Given the description of an element on the screen output the (x, y) to click on. 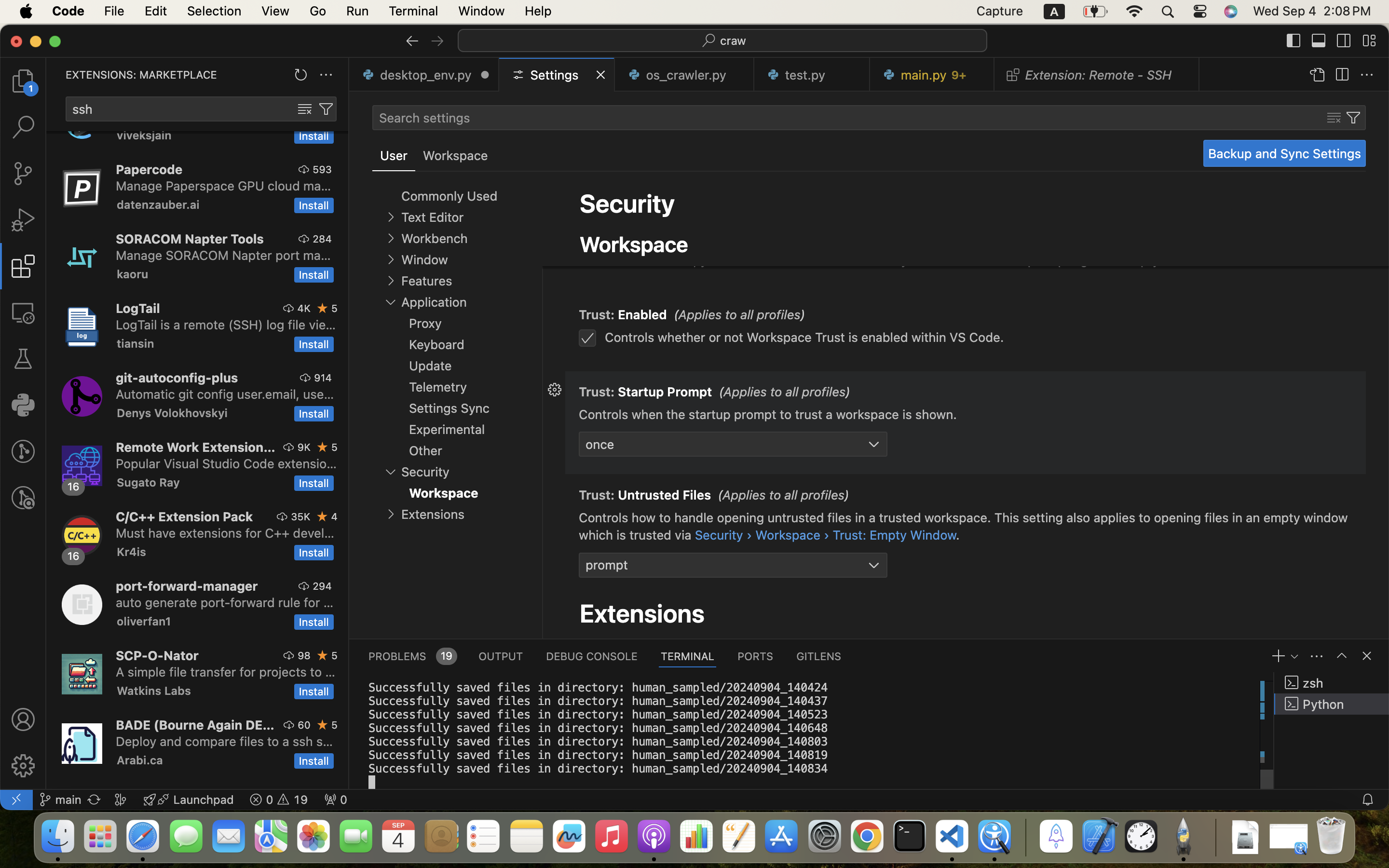
0 DEBUG CONSOLE Element type: AXRadioButton (591, 655)
auto generate port-forward rule for your vscode ssh connection. Element type: AXStaticText (224, 602)
kaoru Element type: AXStaticText (132, 273)
Kr4is Element type: AXStaticText (131, 551)
craw Element type: AXStaticText (733, 40)
